Given the description of an element on the screen output the (x, y) to click on. 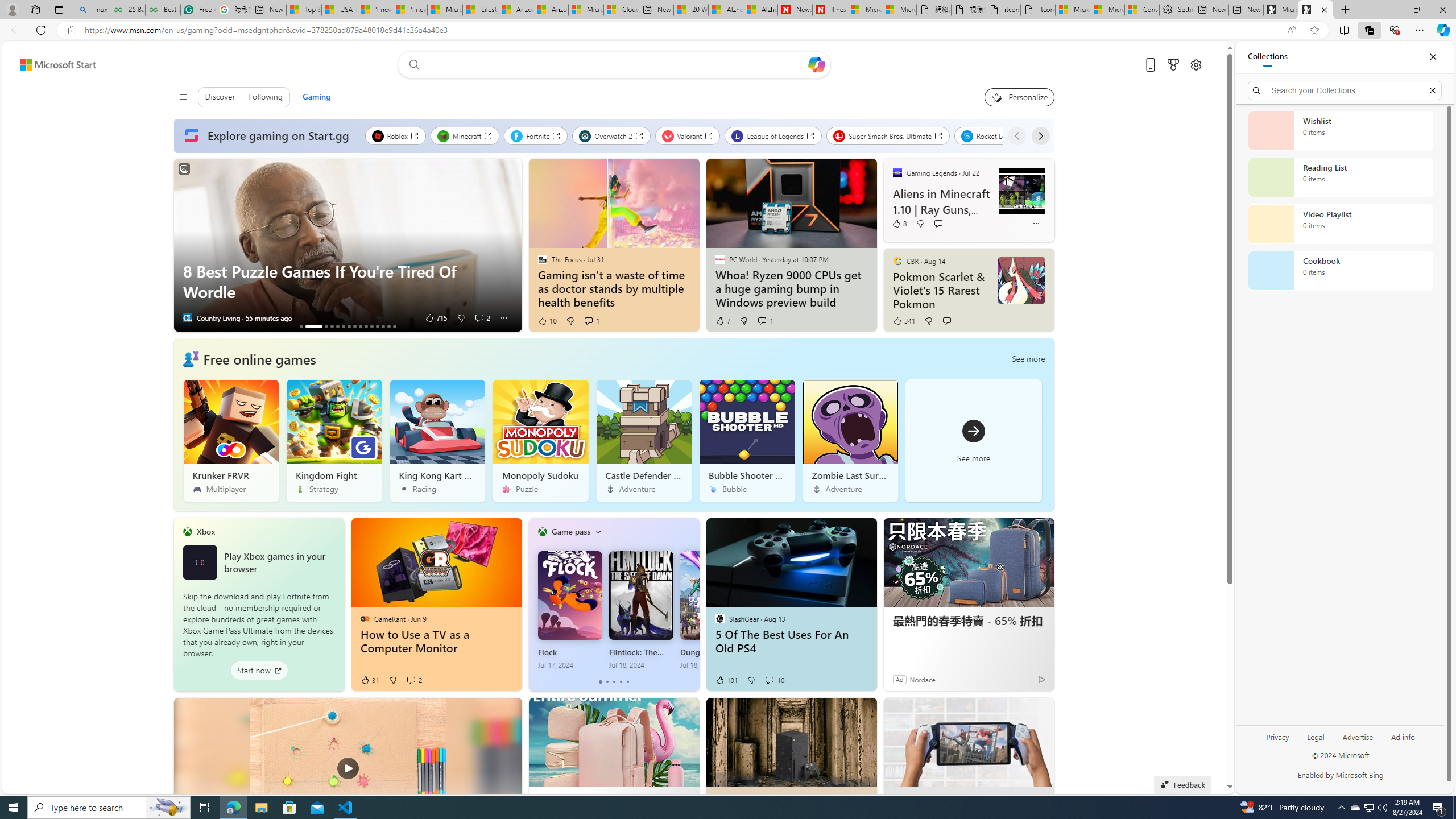
Valorant (687, 135)
tab-2 (613, 682)
Rocket League (996, 135)
8 Best Puzzle Games If You're Tired Of Wordle (312, 326)
linux basic - Search (92, 9)
Nintendo Consoles With The Most Zelda Games (331, 326)
League of Legends (773, 135)
Previous (1016, 135)
Illness news & latest pictures from Newsweek.com (829, 9)
Gaming (316, 96)
Overwatch 2 (610, 135)
